Given the description of an element on the screen output the (x, y) to click on. 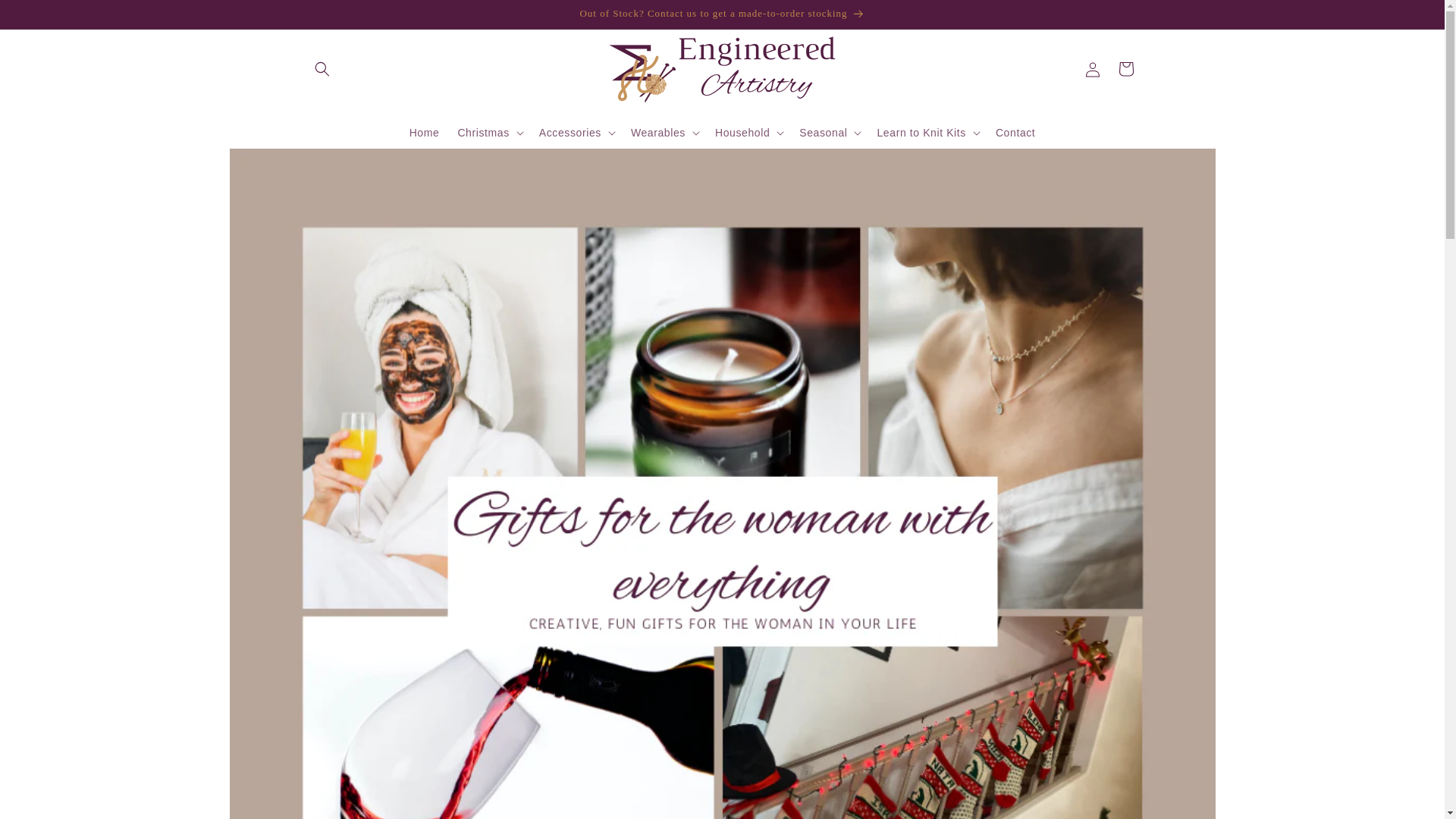
Skip to content (45, 17)
Out of Stock? Contact us to get a made-to-order stocking (721, 14)
Home (424, 132)
